Given the description of an element on the screen output the (x, y) to click on. 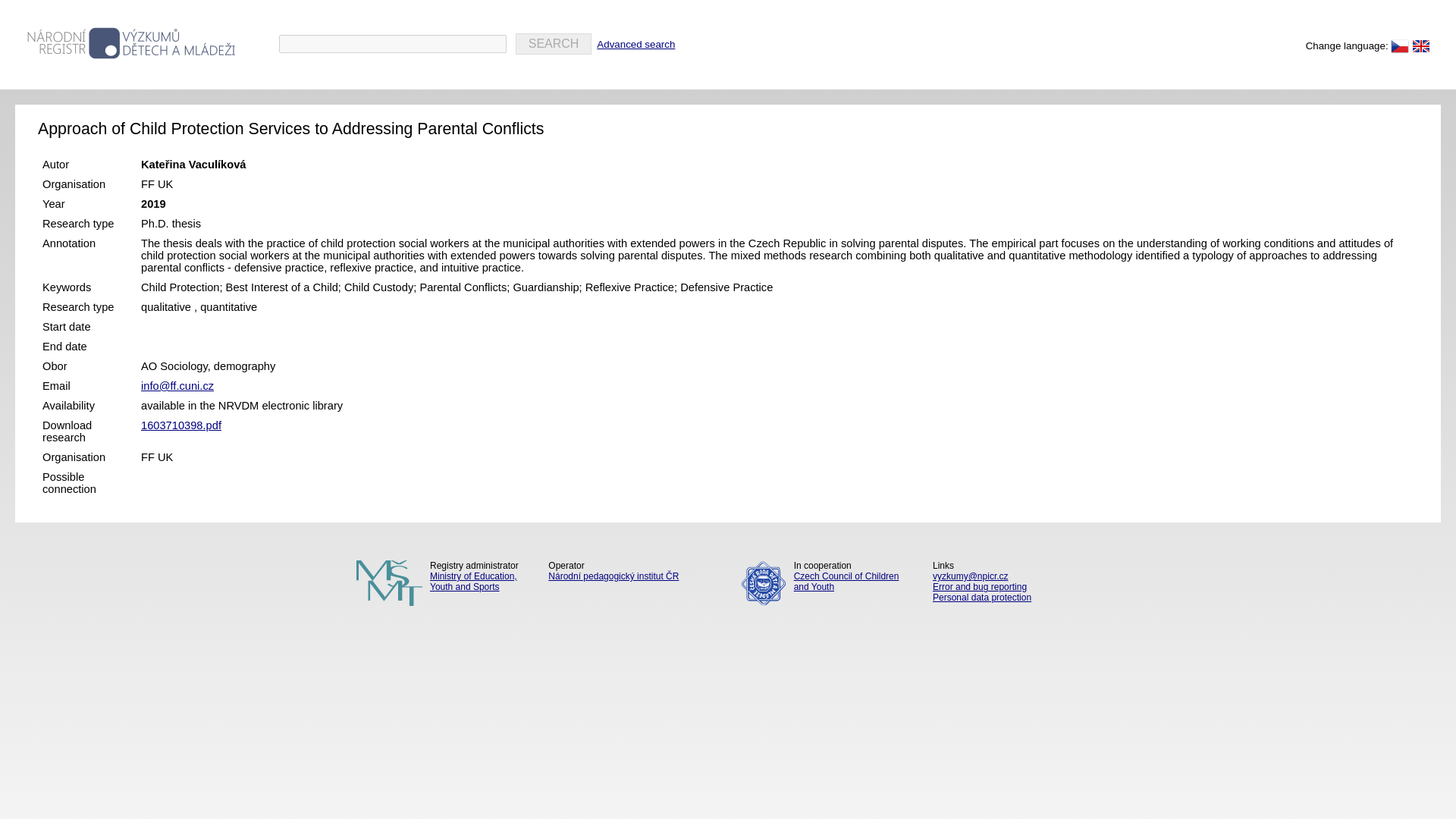
Personal data protection (1016, 597)
Error and bug reporting (1016, 586)
Czech Council of Children and Youth (824, 581)
SEARCH (553, 43)
Advanced search (635, 43)
Ministry of Education, Youth and Sports (439, 581)
1603710398.pdf (181, 425)
